Given the description of an element on the screen output the (x, y) to click on. 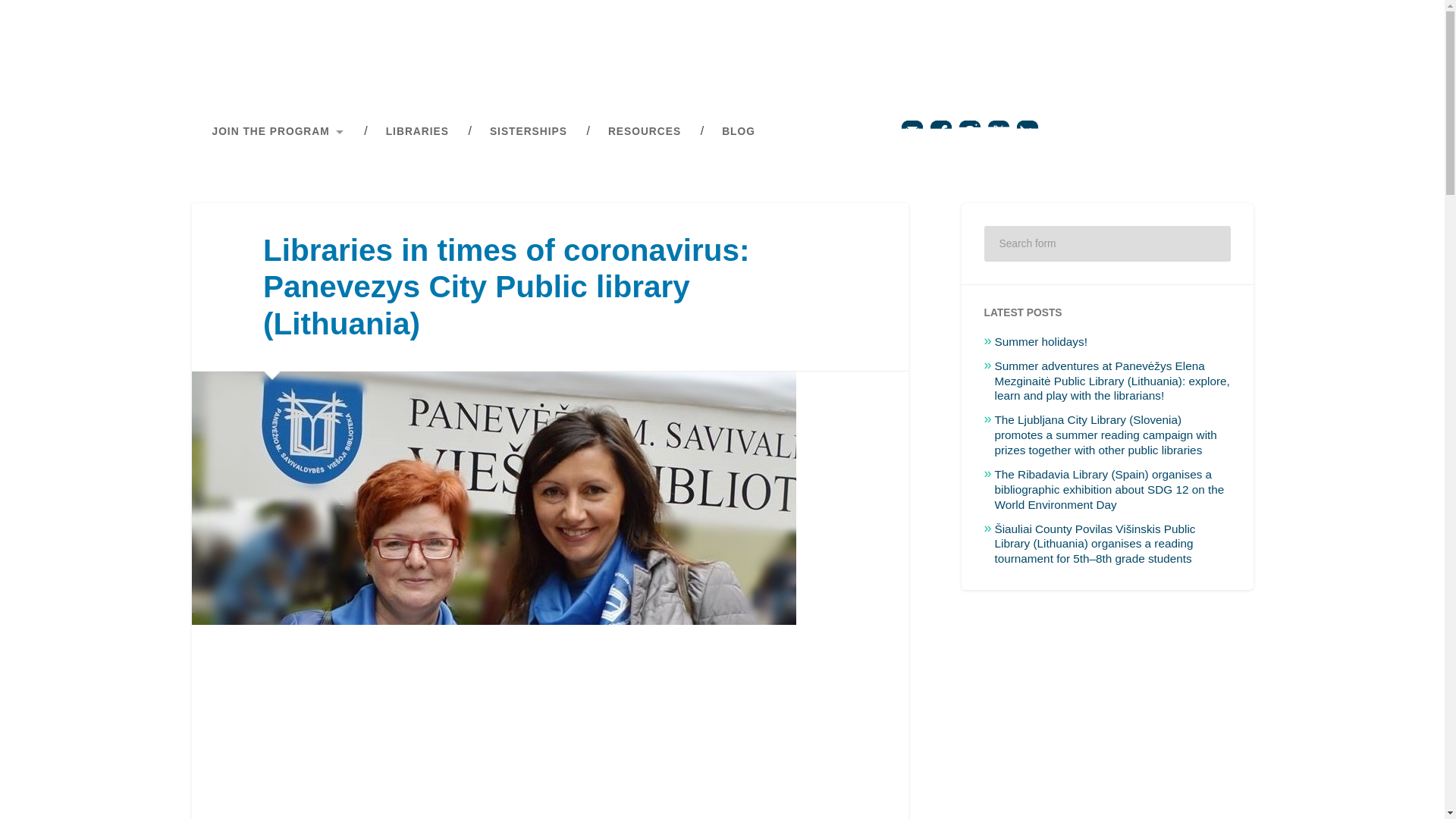
Subscribe (1026, 137)
Search (1209, 243)
BLOG (738, 132)
Summer holidays! (1040, 341)
Go to Instagram (968, 137)
Go to Facebook (939, 137)
JOIN THE PROGRAM (277, 132)
Go to X (997, 137)
RESOURCES (644, 132)
Email (910, 137)
